Given the description of an element on the screen output the (x, y) to click on. 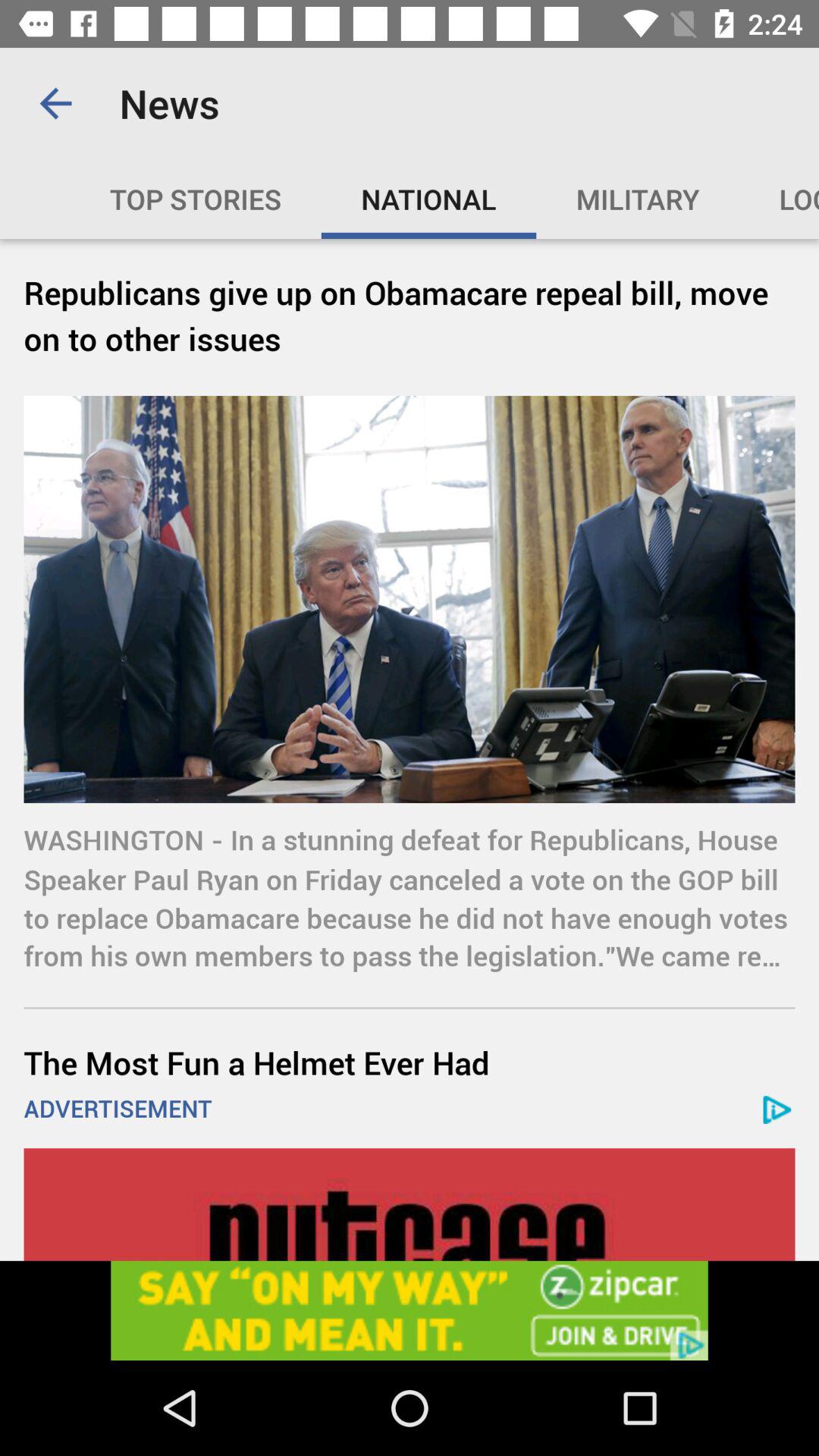
view advertisement (409, 1204)
